Given the description of an element on the screen output the (x, y) to click on. 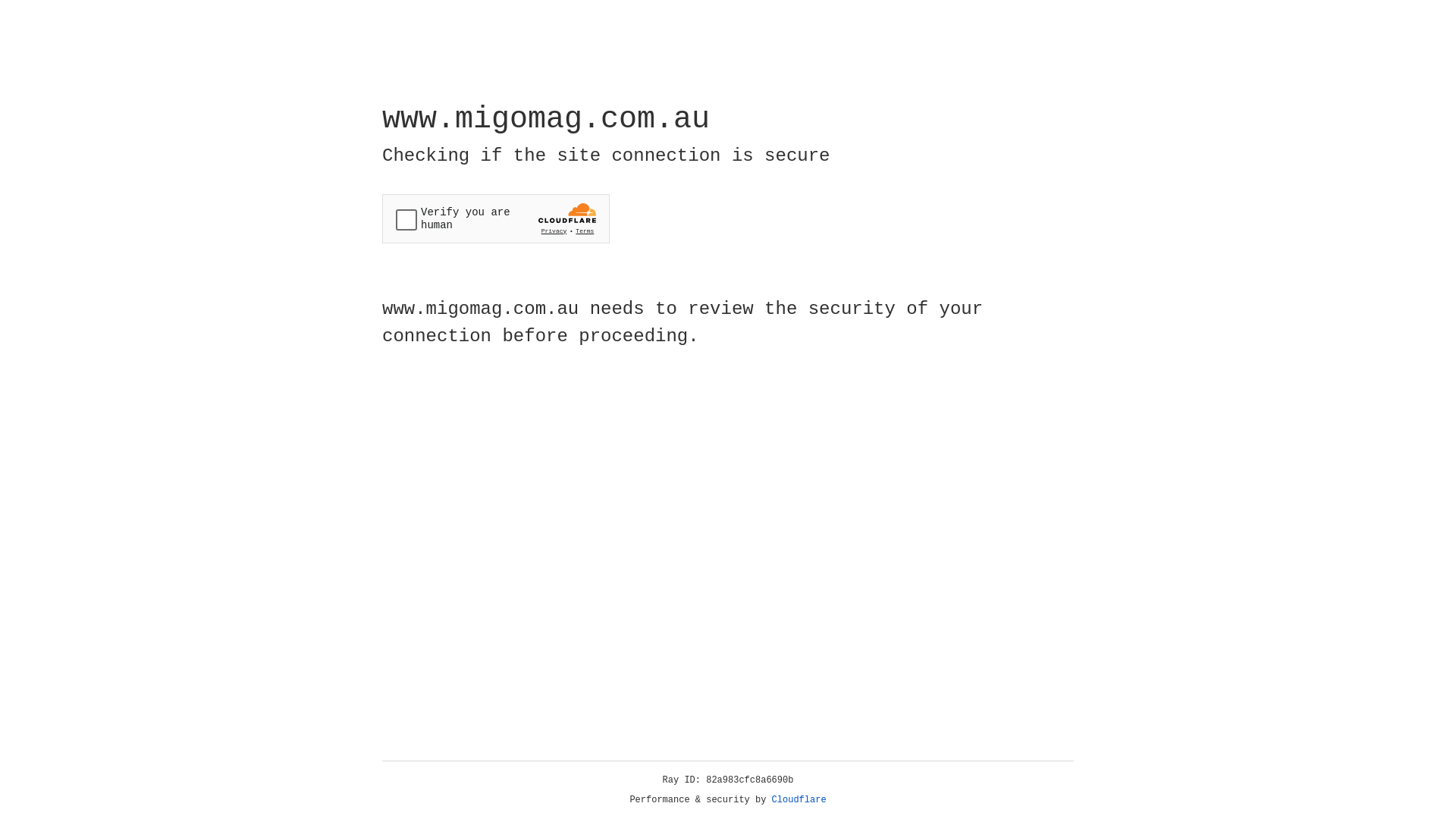
Cloudflare Element type: text (798, 799)
Widget containing a Cloudflare security challenge Element type: hover (495, 218)
